Given the description of an element on the screen output the (x, y) to click on. 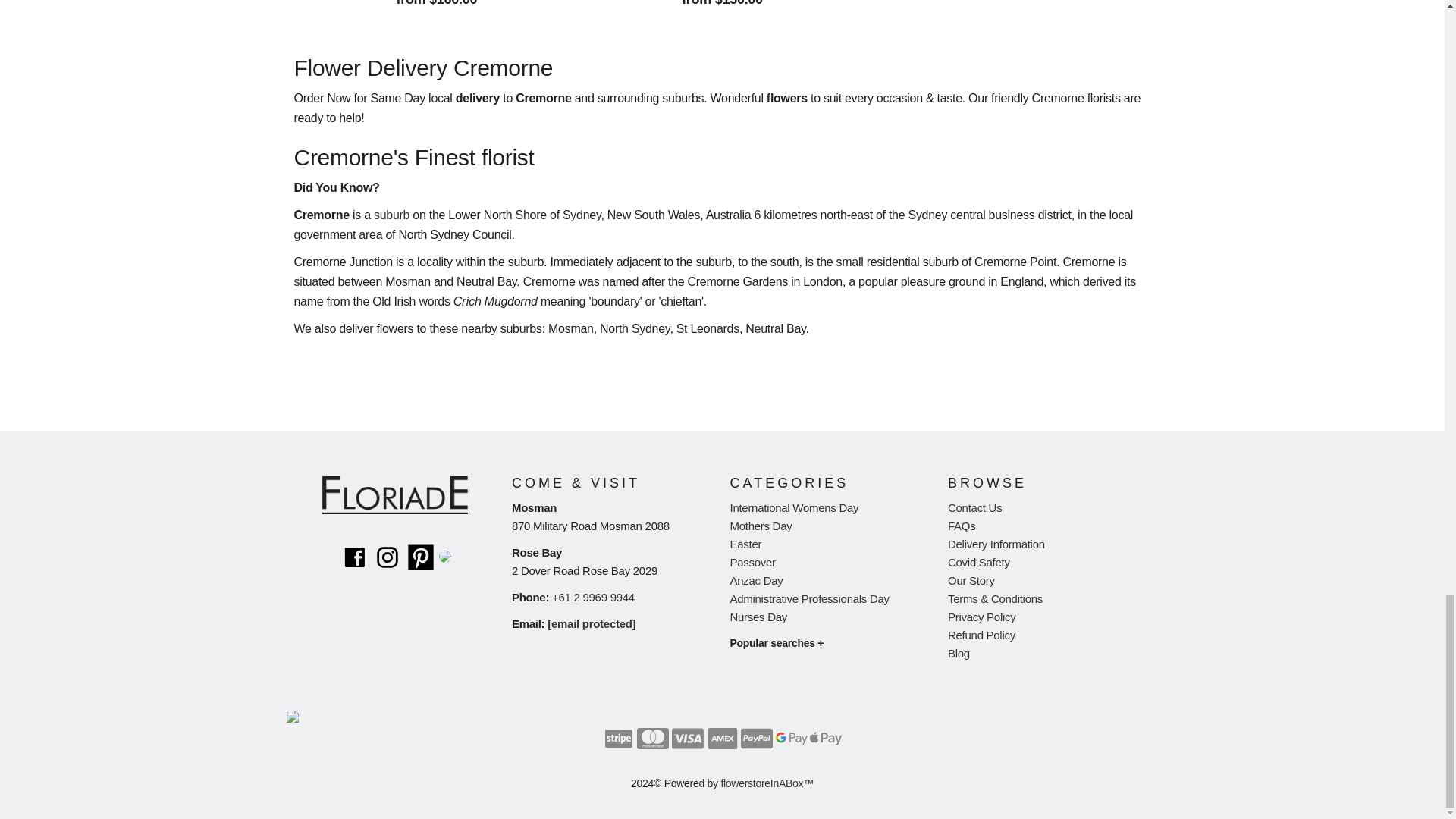
Created with Sketch. (757, 738)
Suburb (391, 214)
facebook (354, 557)
